Given the description of an element on the screen output the (x, y) to click on. 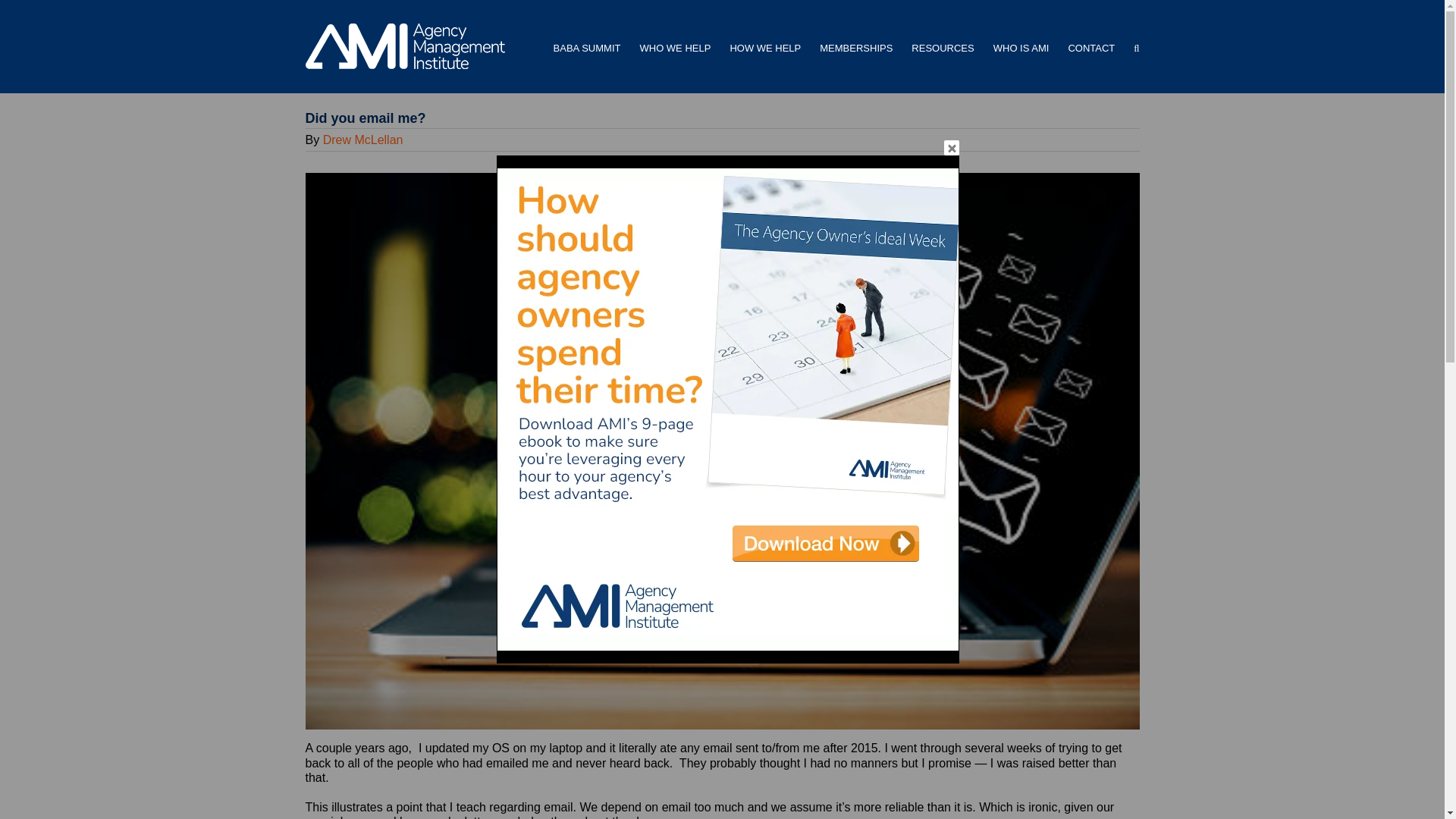
Posts by Drew McLellan (363, 139)
Close (951, 147)
